Given the description of an element on the screen output the (x, y) to click on. 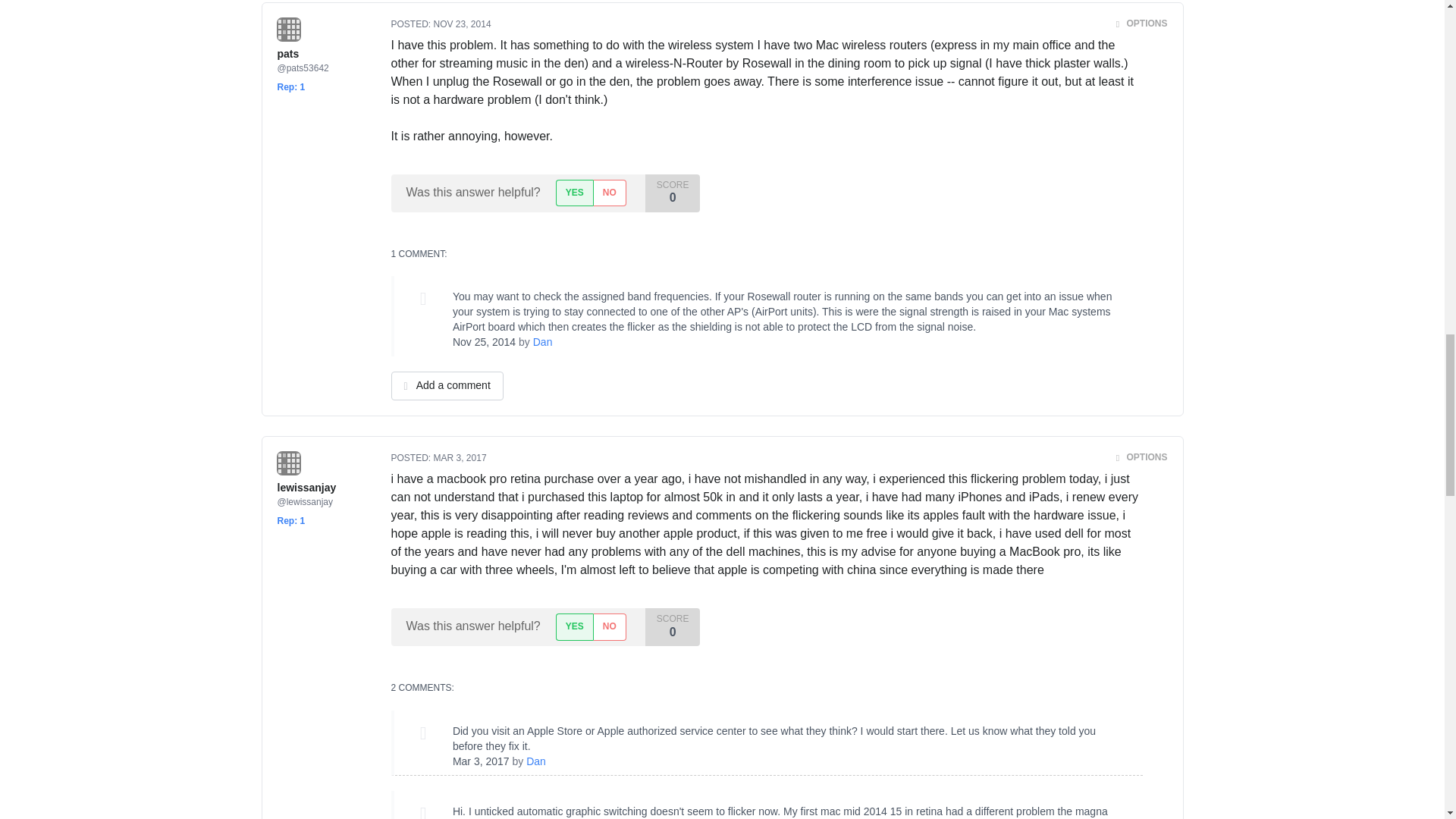
Sun, 23 Nov 2014 10:57:23 -0700 (462, 23)
Tue, 25 Nov 2014 04:38:53 -0700 (483, 341)
Fri, 03 Mar 2017 15:44:55 -0700 (459, 457)
Fri, 03 Mar 2017 15:52:46 -0700 (480, 761)
